Given the description of an element on the screen output the (x, y) to click on. 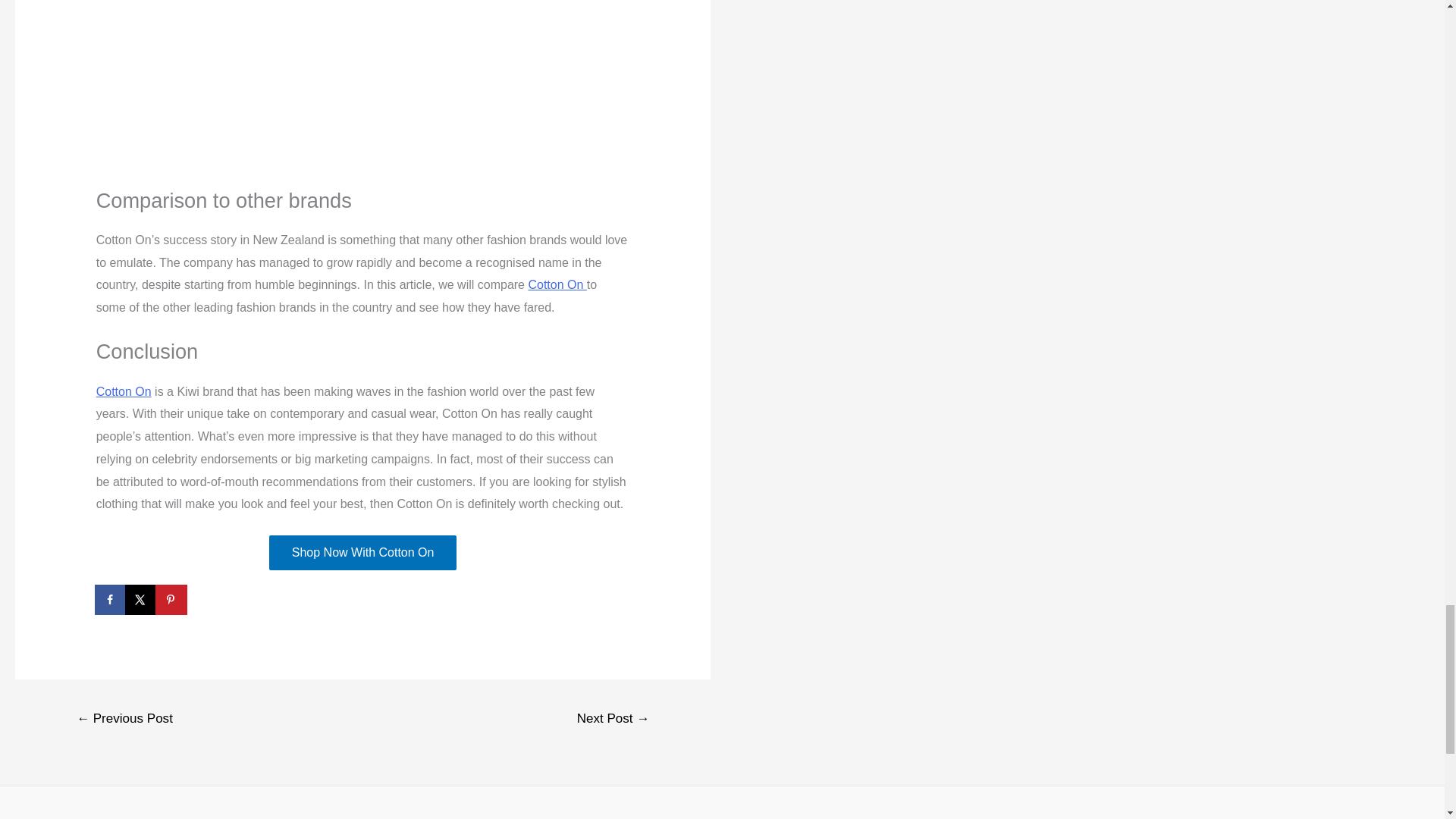
Share on X (141, 599)
Share on Facebook (111, 599)
Save to Pinterest (172, 599)
